Given the description of an element on the screen output the (x, y) to click on. 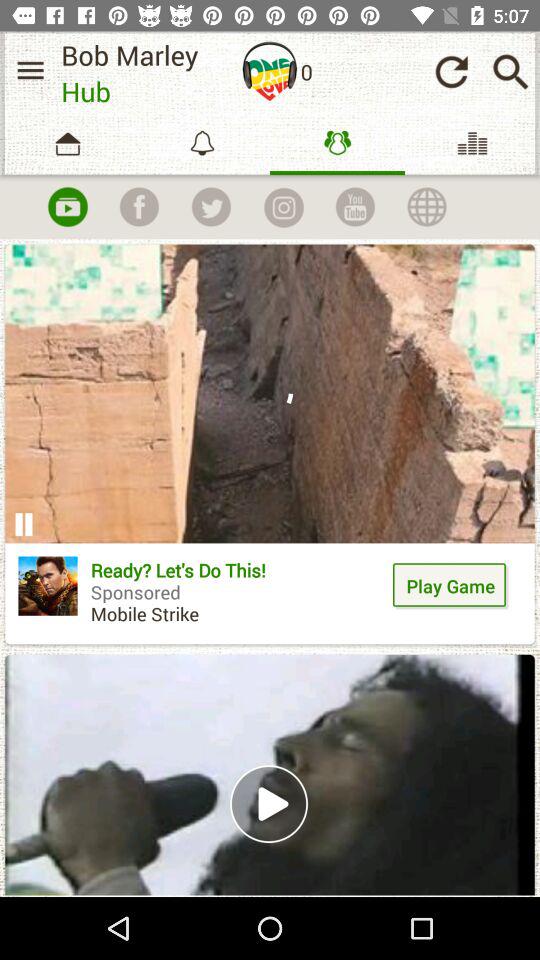
toggle pause (23, 524)
